Given the description of an element on the screen output the (x, y) to click on. 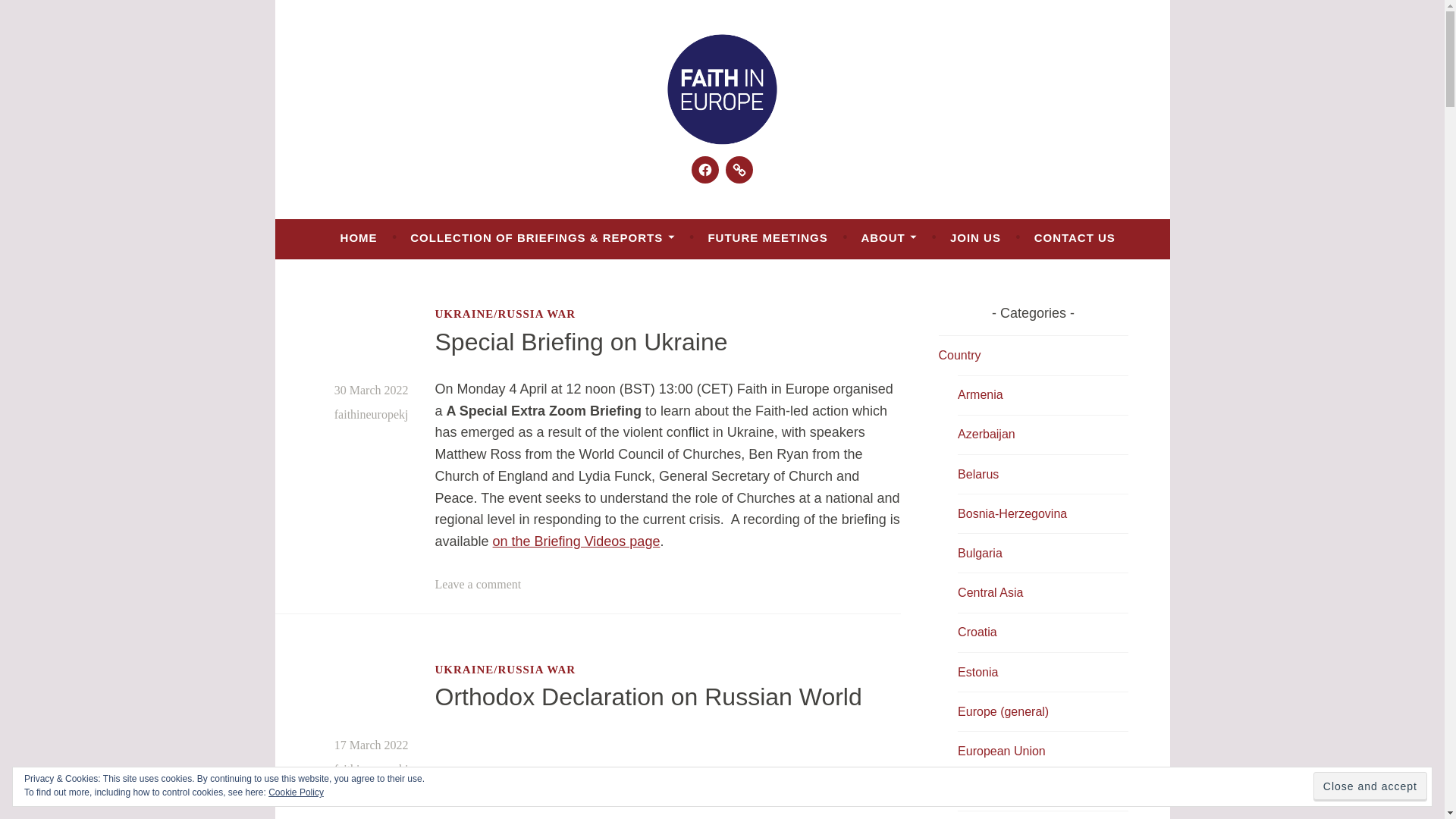
FUTURE MEETINGS (767, 237)
JOIN US (975, 237)
on the Briefing Videos page (577, 540)
Close and accept (1369, 786)
Email (739, 169)
Orthodox Declaration on Russian World (648, 696)
30 March 2022 (371, 390)
17 March 2022 (371, 744)
Special Briefing on Ukraine (581, 341)
HOME (358, 237)
ABOUT (888, 237)
Faith In Europe (428, 178)
faithineuropekj (371, 768)
Leave a comment (478, 584)
faithineuropekj (371, 413)
